Given the description of an element on the screen output the (x, y) to click on. 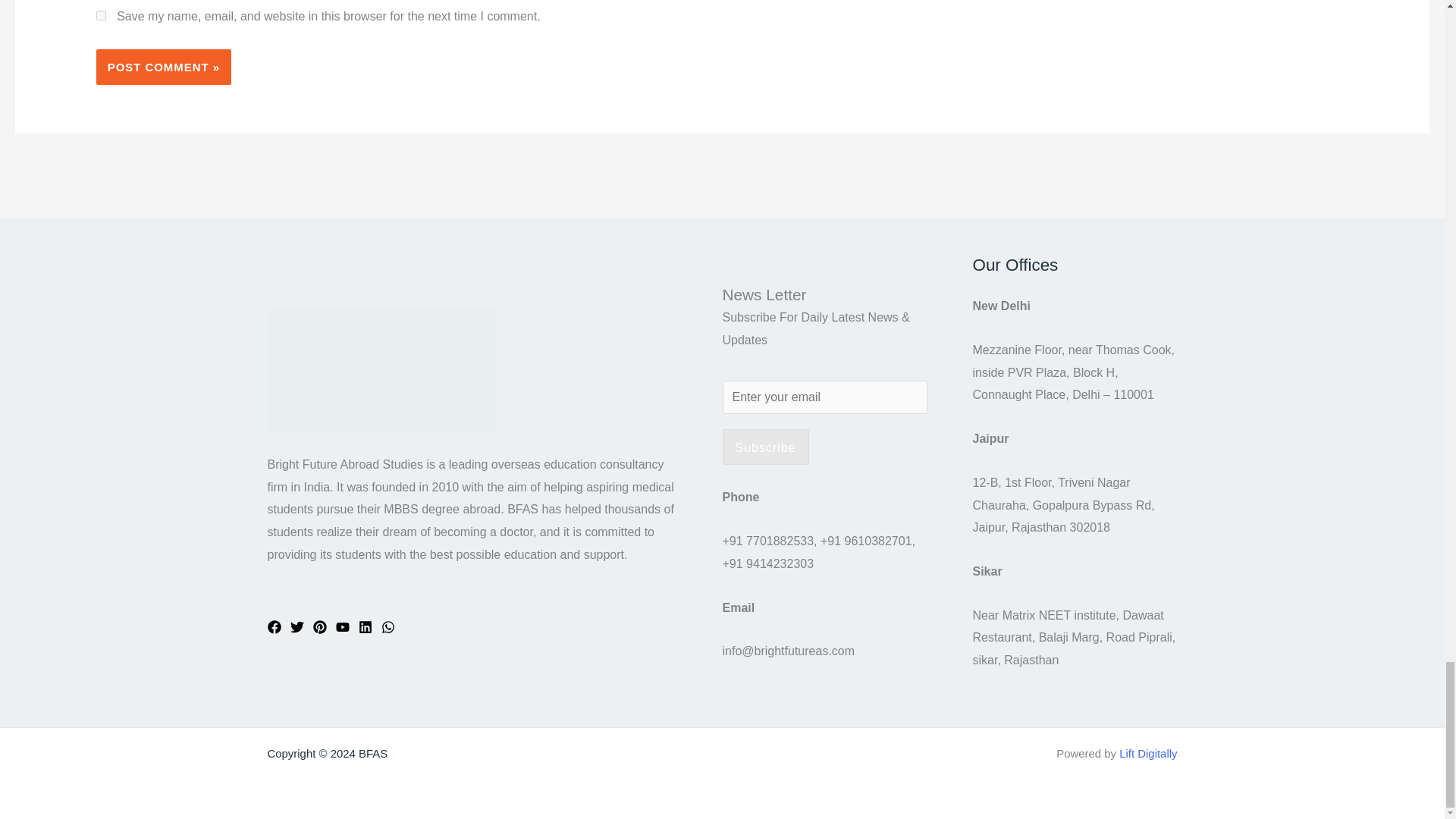
Lift Digitally (1147, 753)
Subscribe (765, 447)
yes (101, 15)
